Given the description of an element on the screen output the (x, y) to click on. 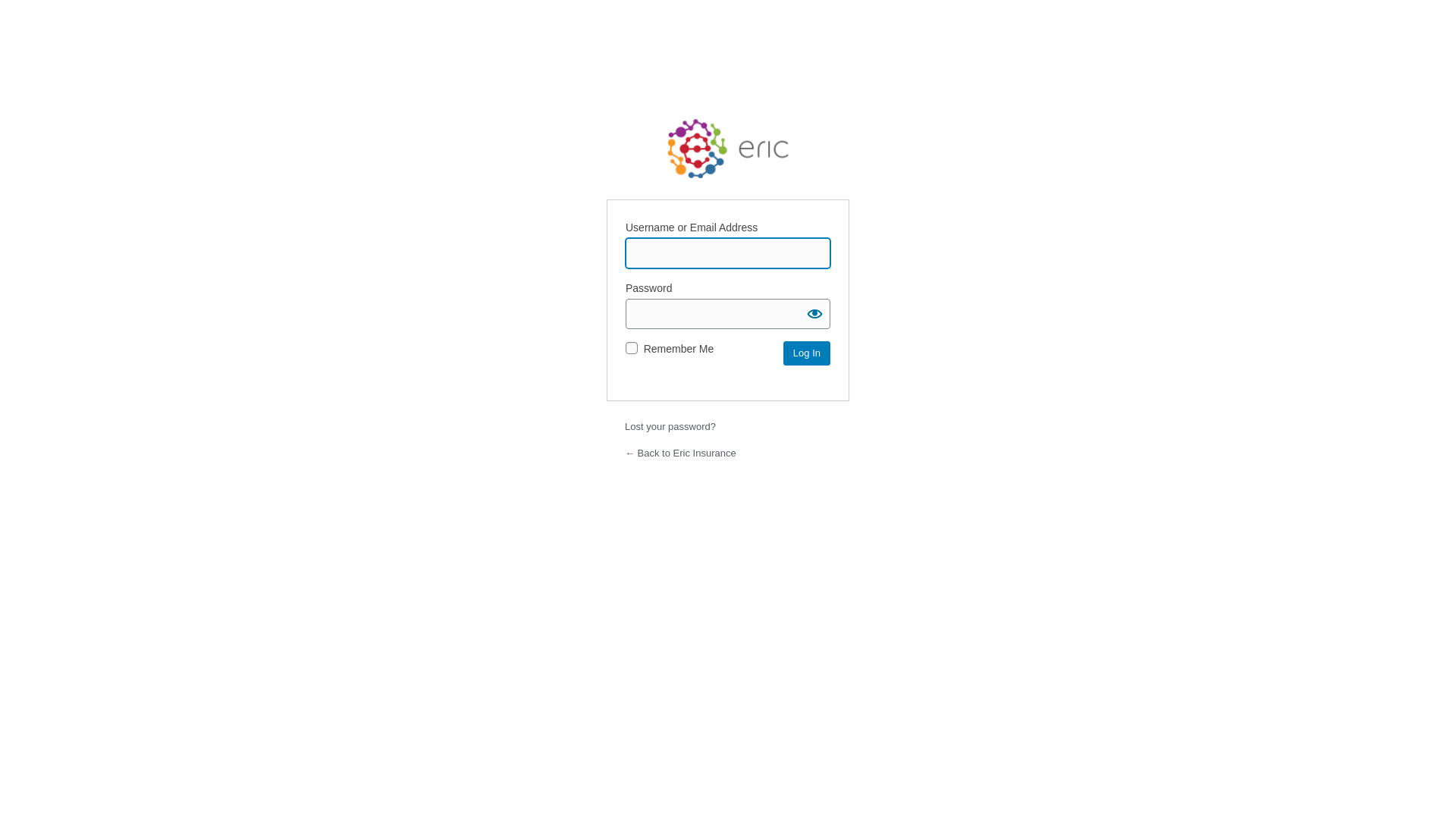
Powered by WordPress Element type: text (727, 148)
Lost your password? Element type: text (669, 426)
Log In Element type: text (806, 353)
